Given the description of an element on the screen output the (x, y) to click on. 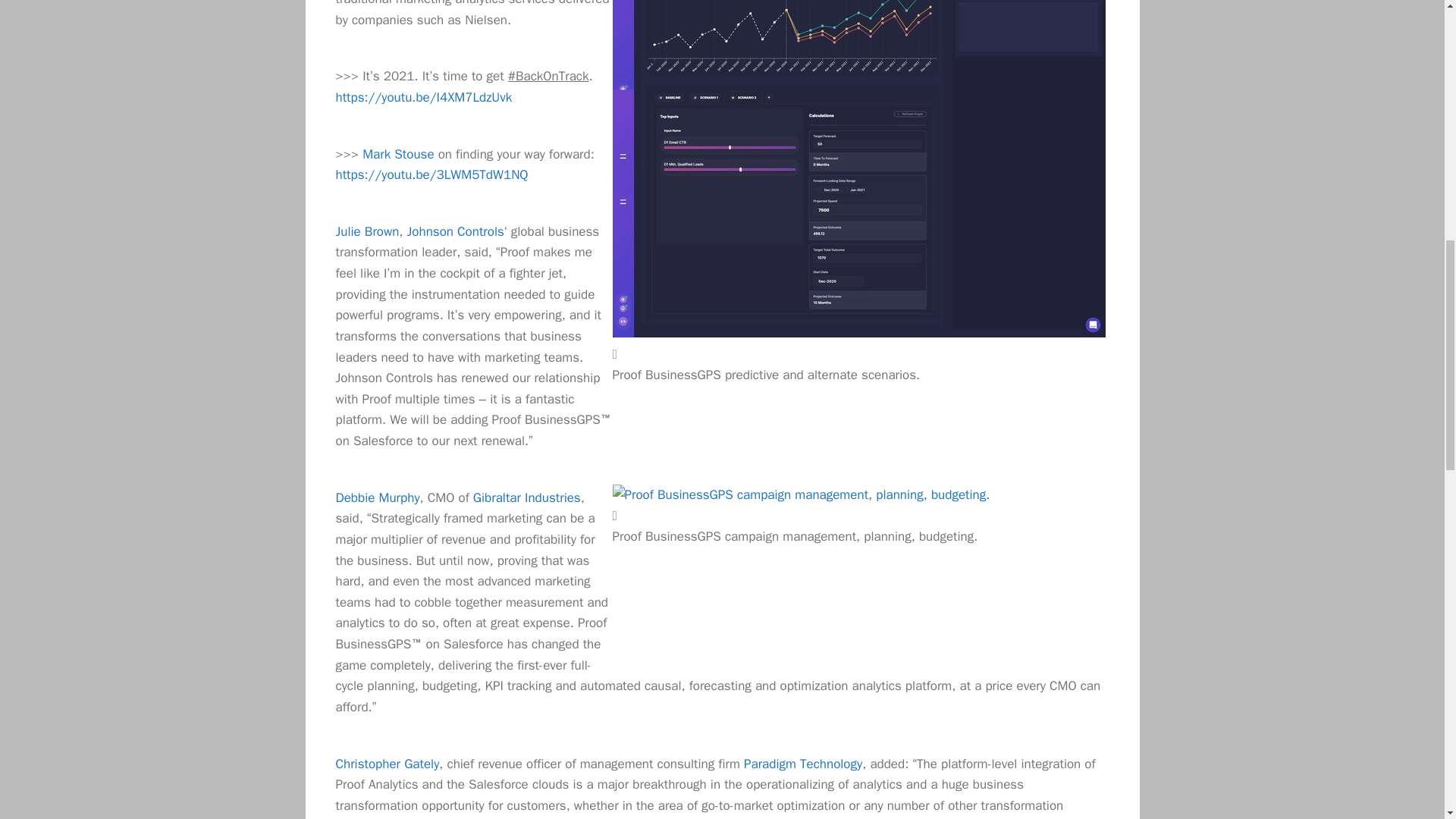
Johnson Controls (455, 231)
Proof BusinessGPS campaign management, planning, budgeting. (801, 495)
Gibraltar Industries (526, 497)
Paradigm Technology (802, 763)
Christopher Gately (386, 763)
Mark Stouse (397, 154)
Debbie Murphy (376, 497)
Julie Brown (366, 231)
